Given the description of an element on the screen output the (x, y) to click on. 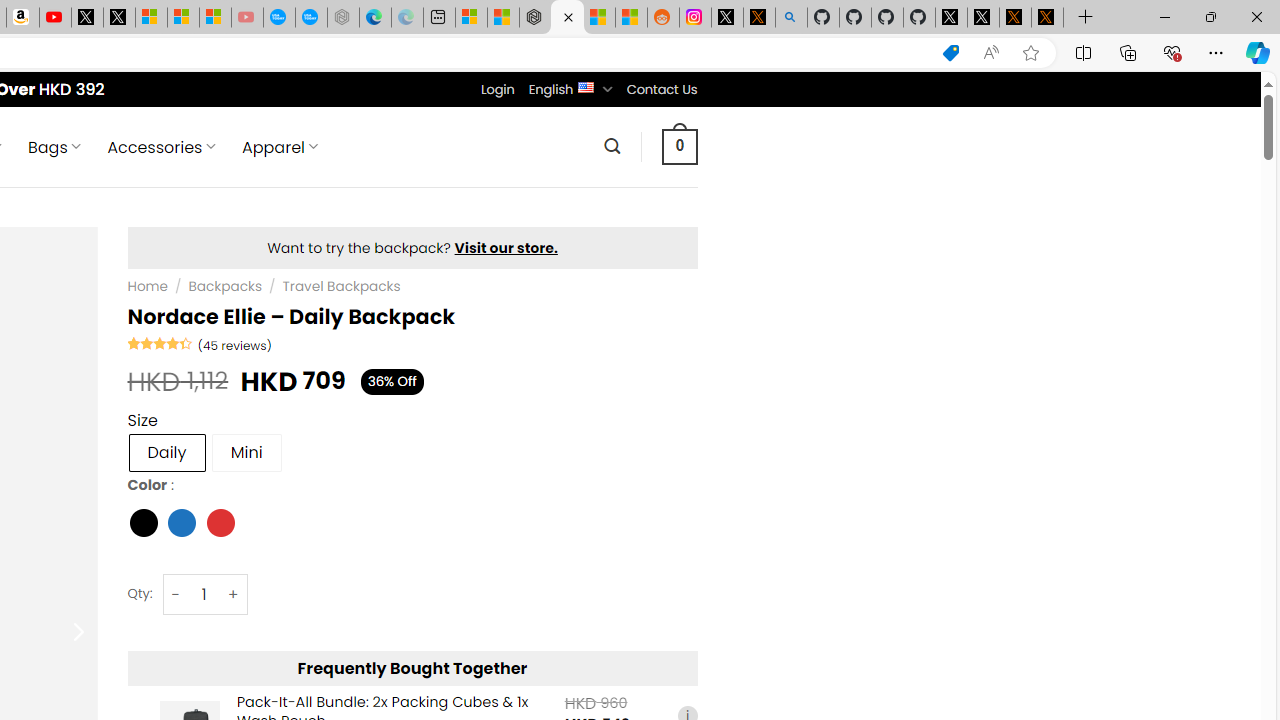
  0   (679, 146)
+ (234, 593)
